Given the description of an element on the screen output the (x, y) to click on. 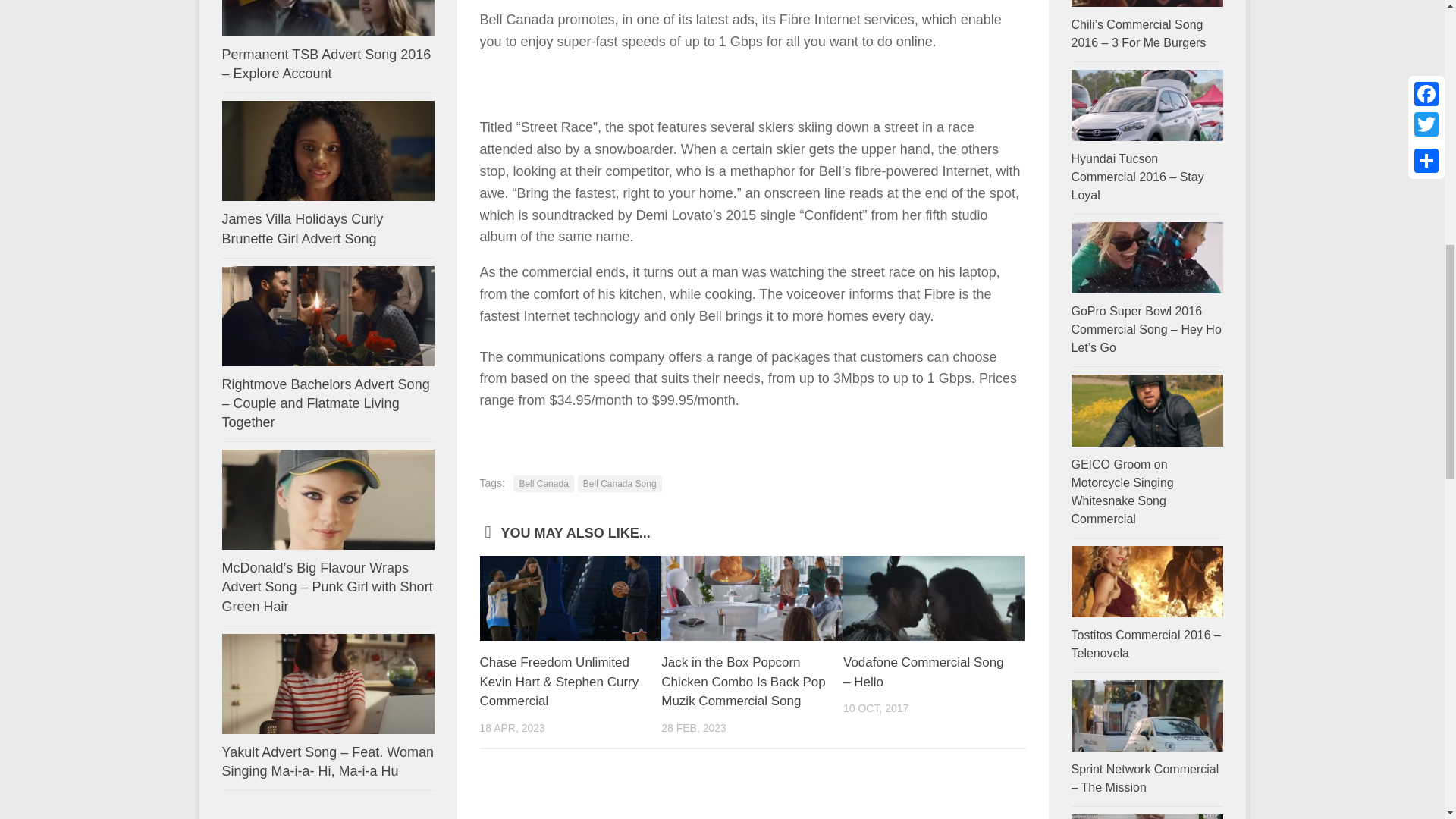
James Villa Holidays Curly Brunette Girl Advert Song (301, 228)
Bell Canada (543, 483)
Bell Canada Song (620, 483)
